Given the description of an element on the screen output the (x, y) to click on. 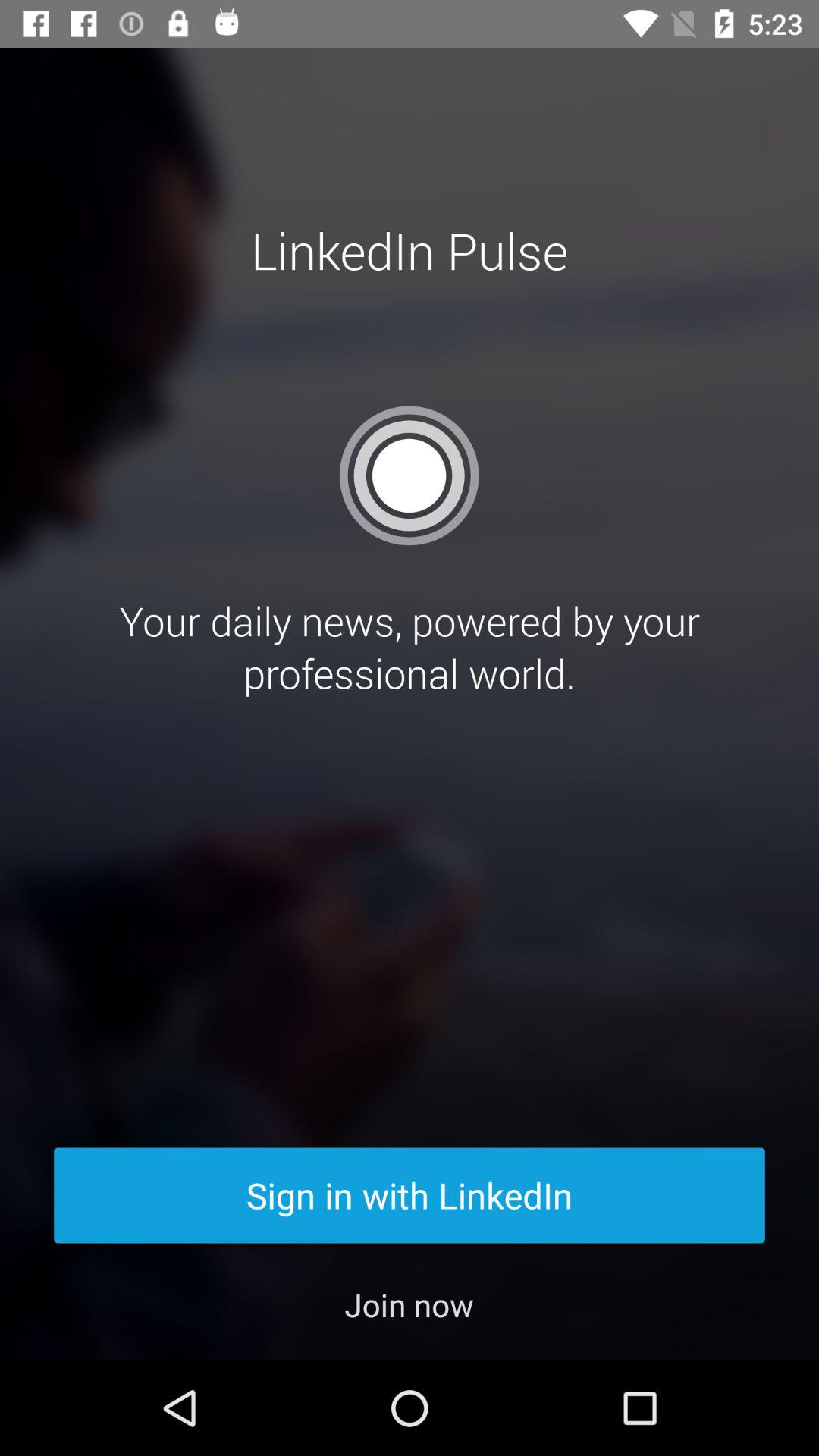
tap join now icon (408, 1304)
